Given the description of an element on the screen output the (x, y) to click on. 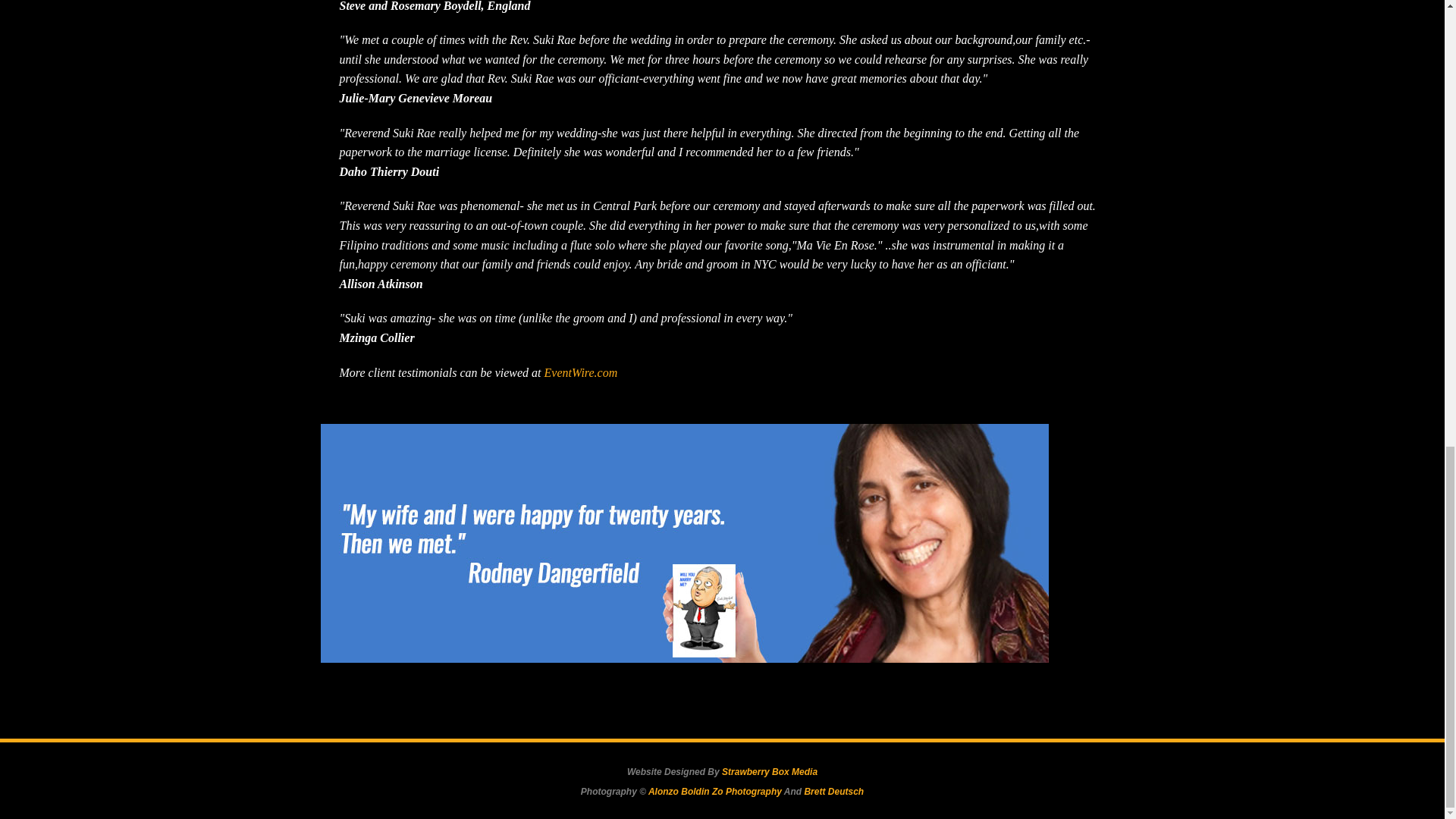
Alonzo Boldin Zo Photography (714, 791)
Brett Deutsch (833, 791)
EventWire.com (580, 372)
Strawberry Box Media (769, 771)
